Given the description of an element on the screen output the (x, y) to click on. 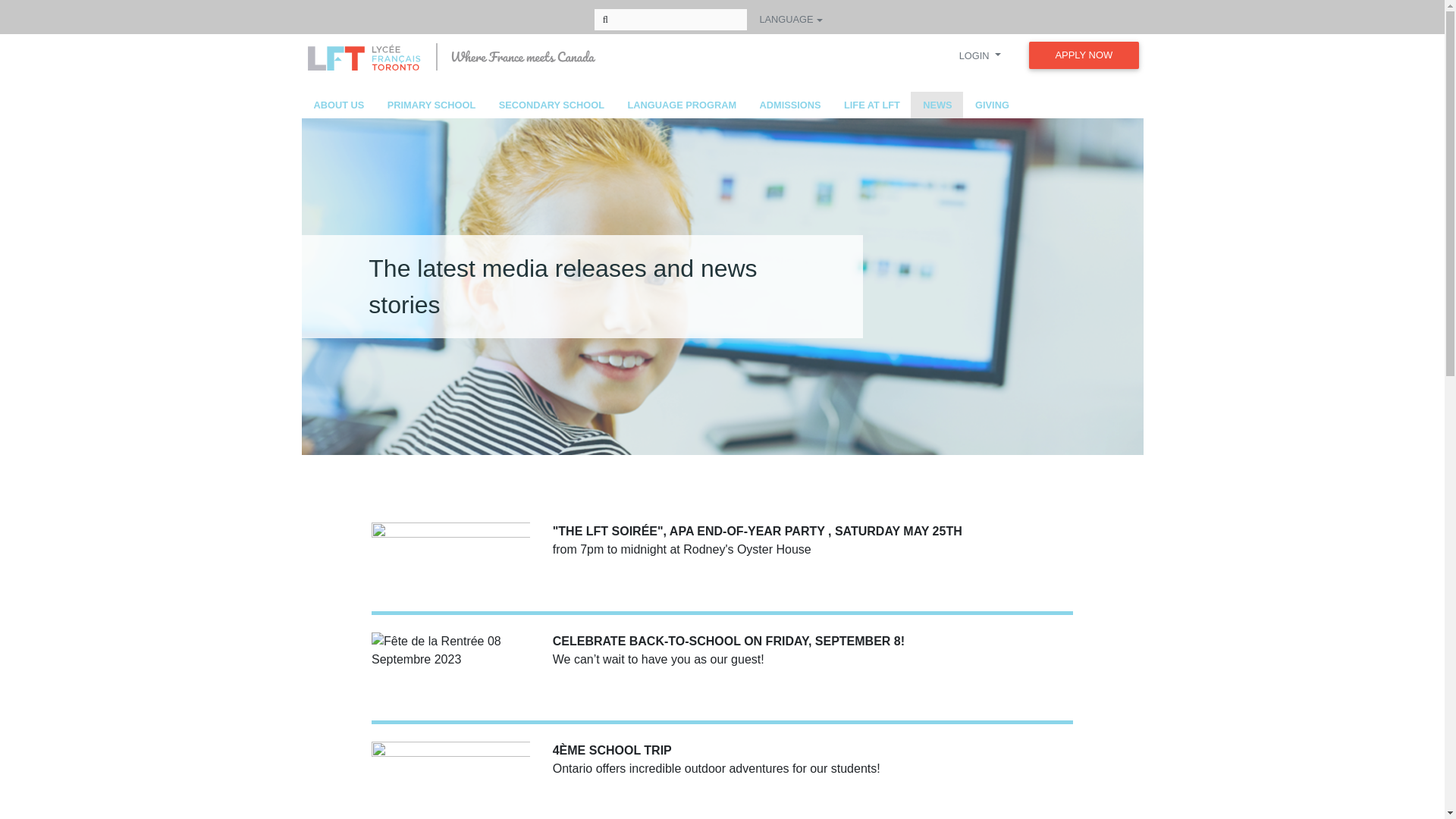
APPLY NOW (1083, 54)
SECONDARY SCHOOL (550, 104)
ADMISSIONS (788, 104)
LOGIN (980, 55)
LANGUAGE PROGRAM (680, 104)
ABOUT US (338, 104)
PRIMARY SCHOOL (430, 104)
Search (604, 19)
LIFE AT LFT (871, 104)
